Given the description of an element on the screen output the (x, y) to click on. 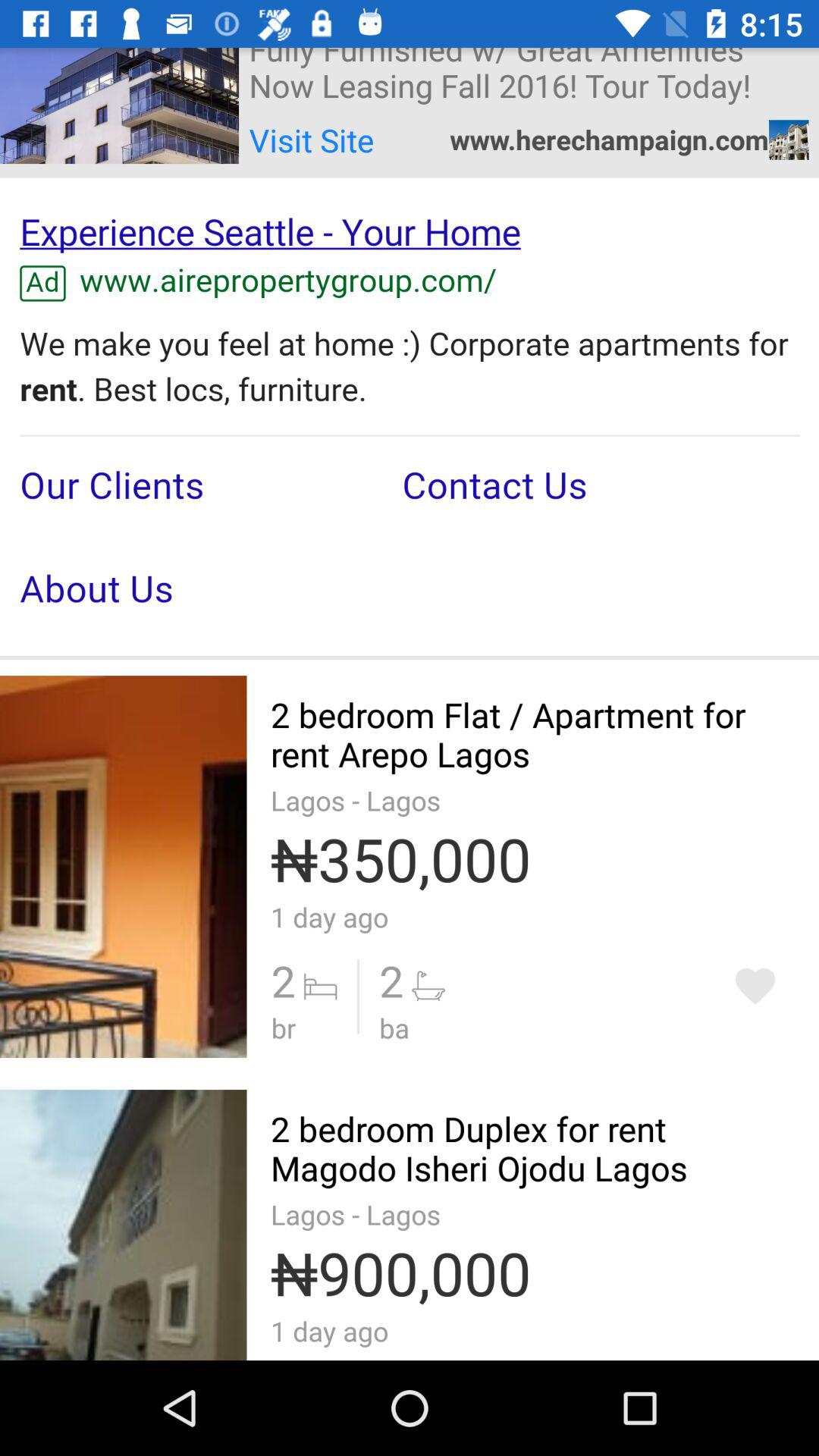
advertisement (409, 416)
